Given the description of an element on the screen output the (x, y) to click on. 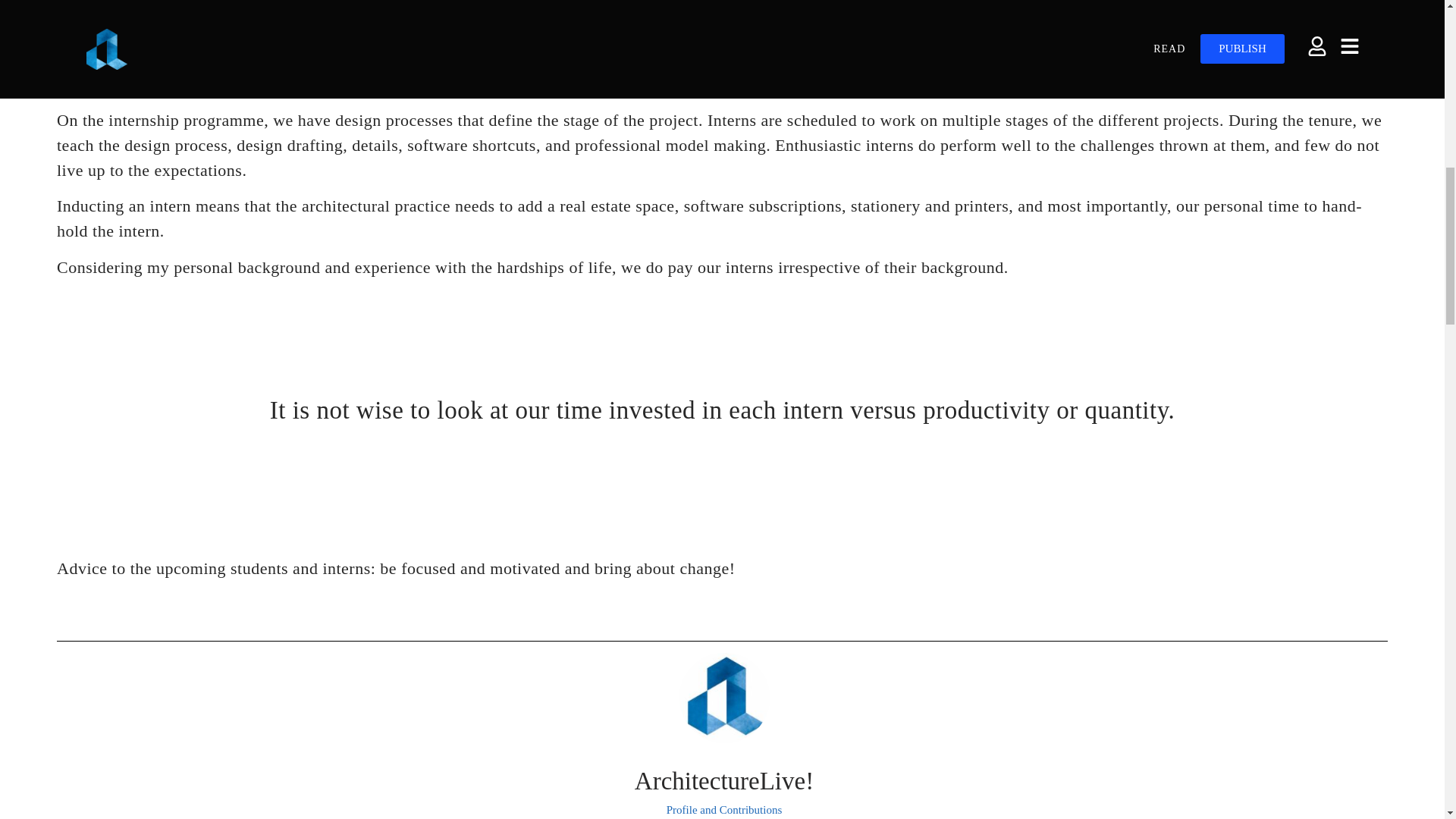
Profile and Contributions (724, 807)
ArchitectureLive! (724, 791)
